Given the description of an element on the screen output the (x, y) to click on. 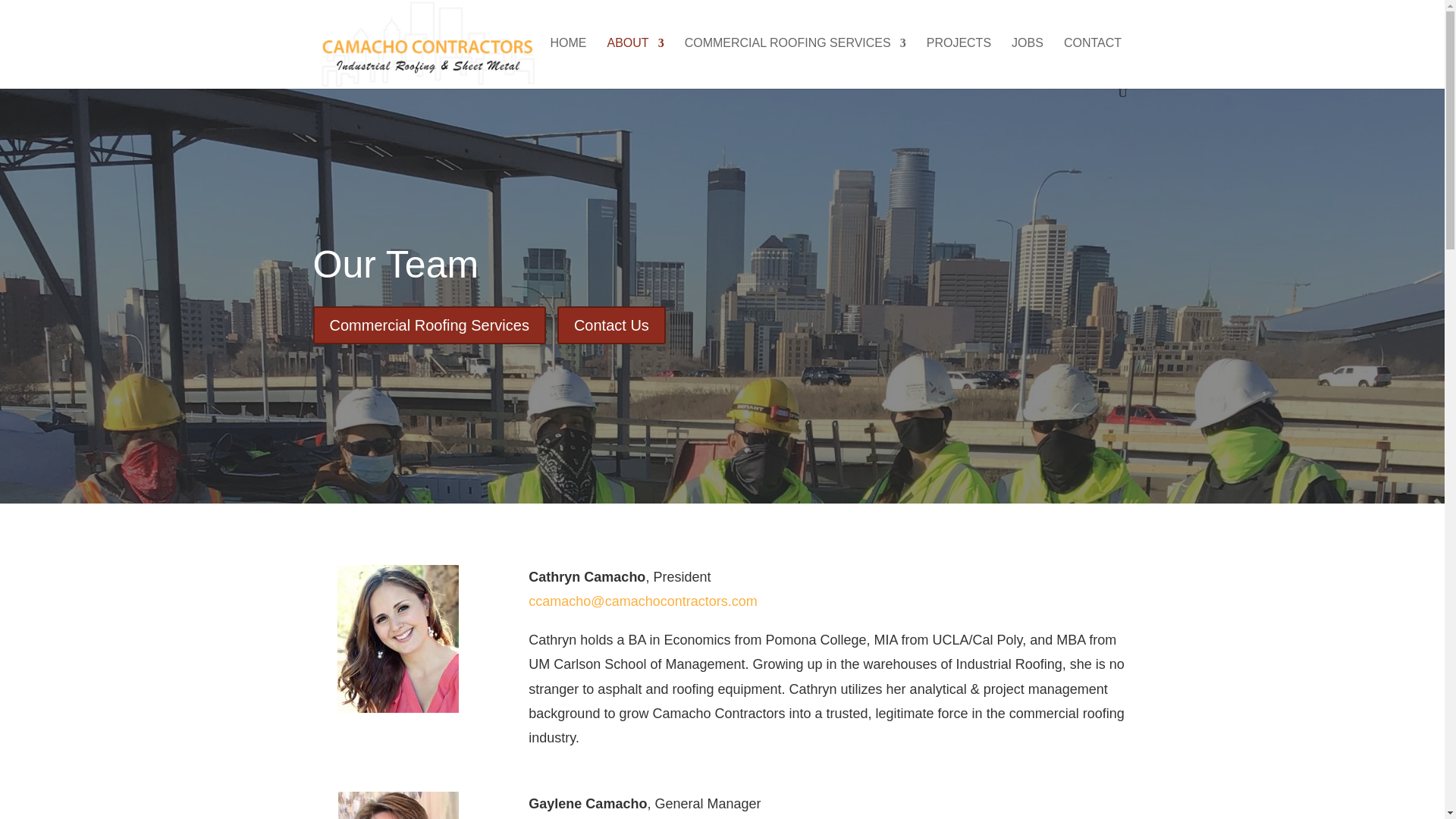
Contact Us (611, 324)
Gaylene (397, 805)
ABOUT (635, 61)
CONTACT (1092, 61)
COMMERCIAL ROOFING SERVICES (794, 61)
Commercial Roofing Services (428, 324)
PROJECTS (958, 61)
